Given the description of an element on the screen output the (x, y) to click on. 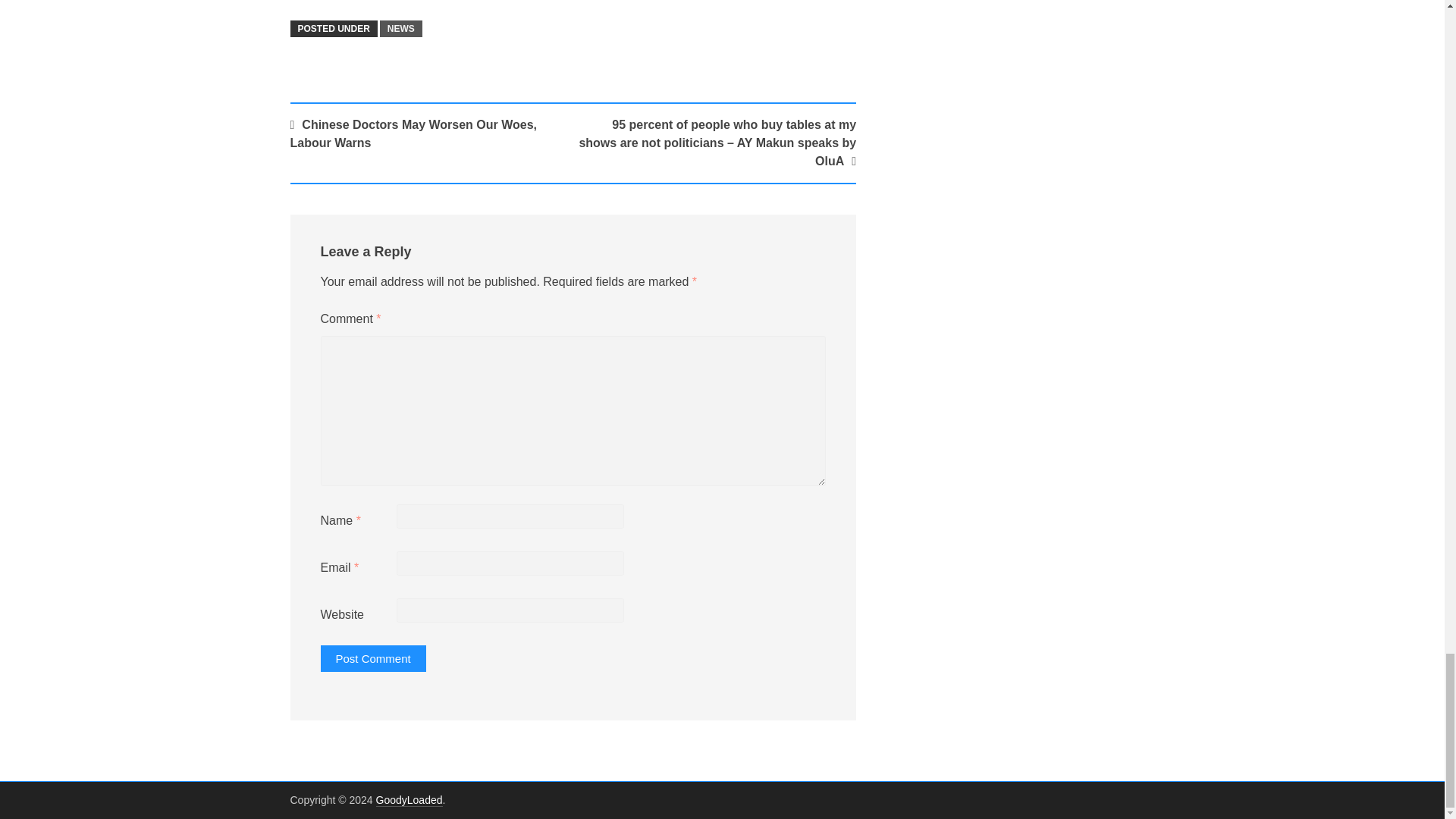
GoodyLoaded (408, 799)
GoodyLoaded (408, 799)
NEWS (401, 28)
Chinese Doctors May Worsen Our Woes, Labour Warns (413, 133)
Post Comment (372, 658)
Post Comment (372, 658)
